Given the description of an element on the screen output the (x, y) to click on. 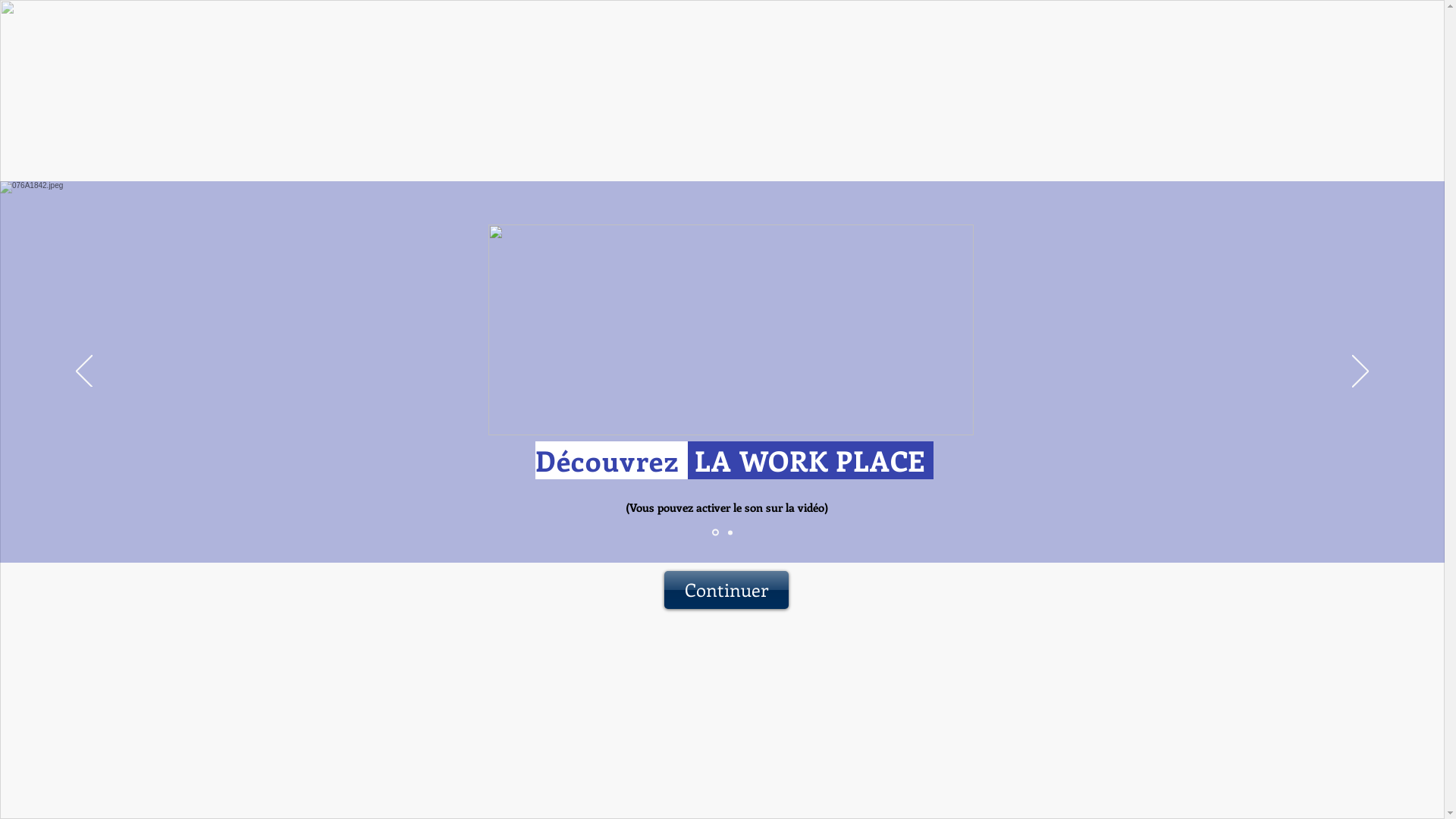
Continuer Element type: text (726, 589)
